Given the description of an element on the screen output the (x, y) to click on. 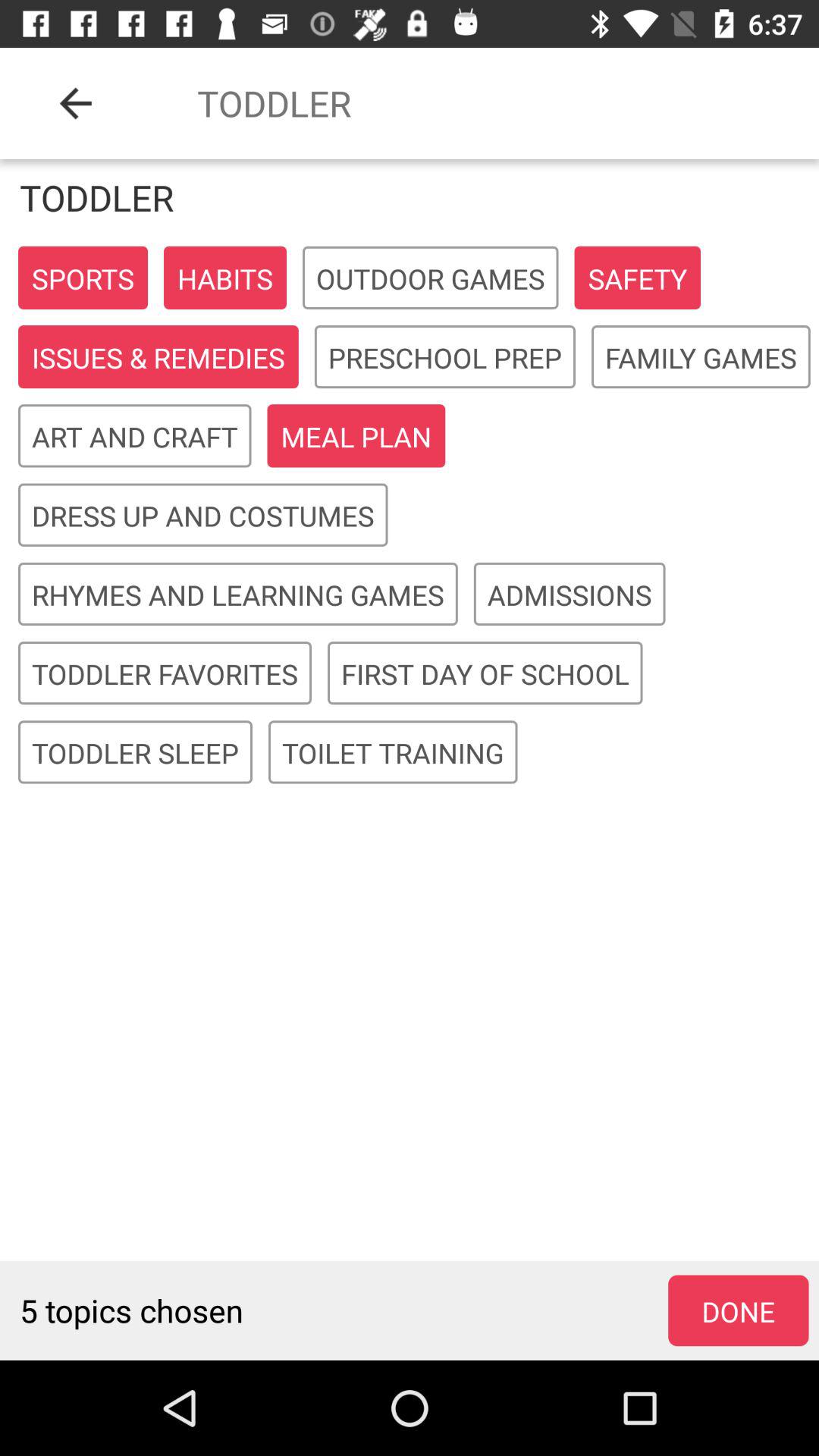
select item below the safety item (700, 357)
